Given the description of an element on the screen output the (x, y) to click on. 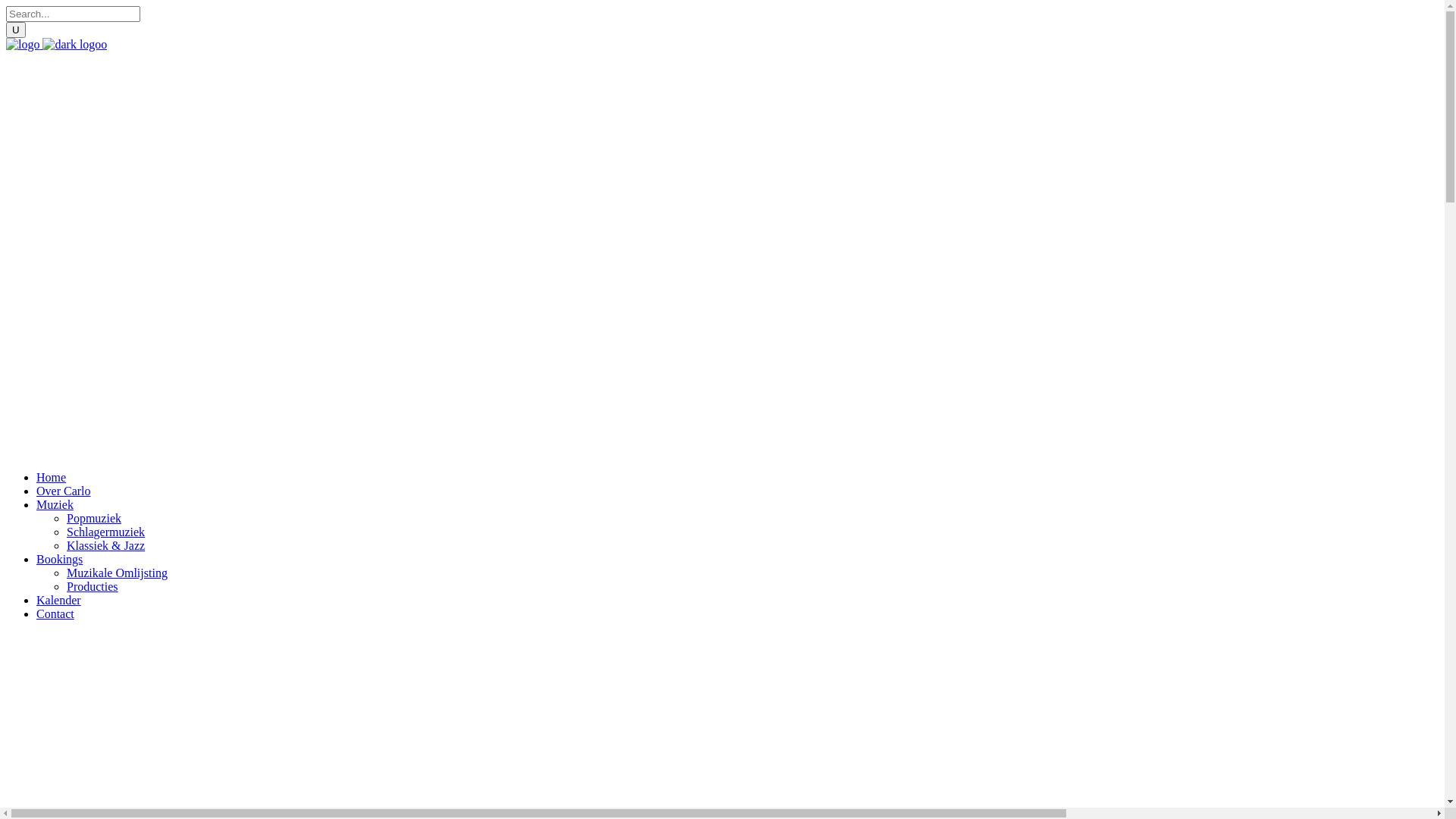
Producties Element type: text (92, 586)
Klassiek & Jazz Element type: text (105, 545)
Bookings Element type: text (59, 558)
Schlagermuziek Element type: text (105, 531)
Over Carlo Element type: text (63, 490)
Muziek Element type: text (54, 504)
Home Element type: text (50, 476)
U Element type: text (15, 29)
Contact Element type: text (55, 613)
Popmuziek Element type: text (93, 517)
Kalender Element type: text (58, 599)
Muzikale Omlijsting Element type: text (116, 572)
